Given the description of an element on the screen output the (x, y) to click on. 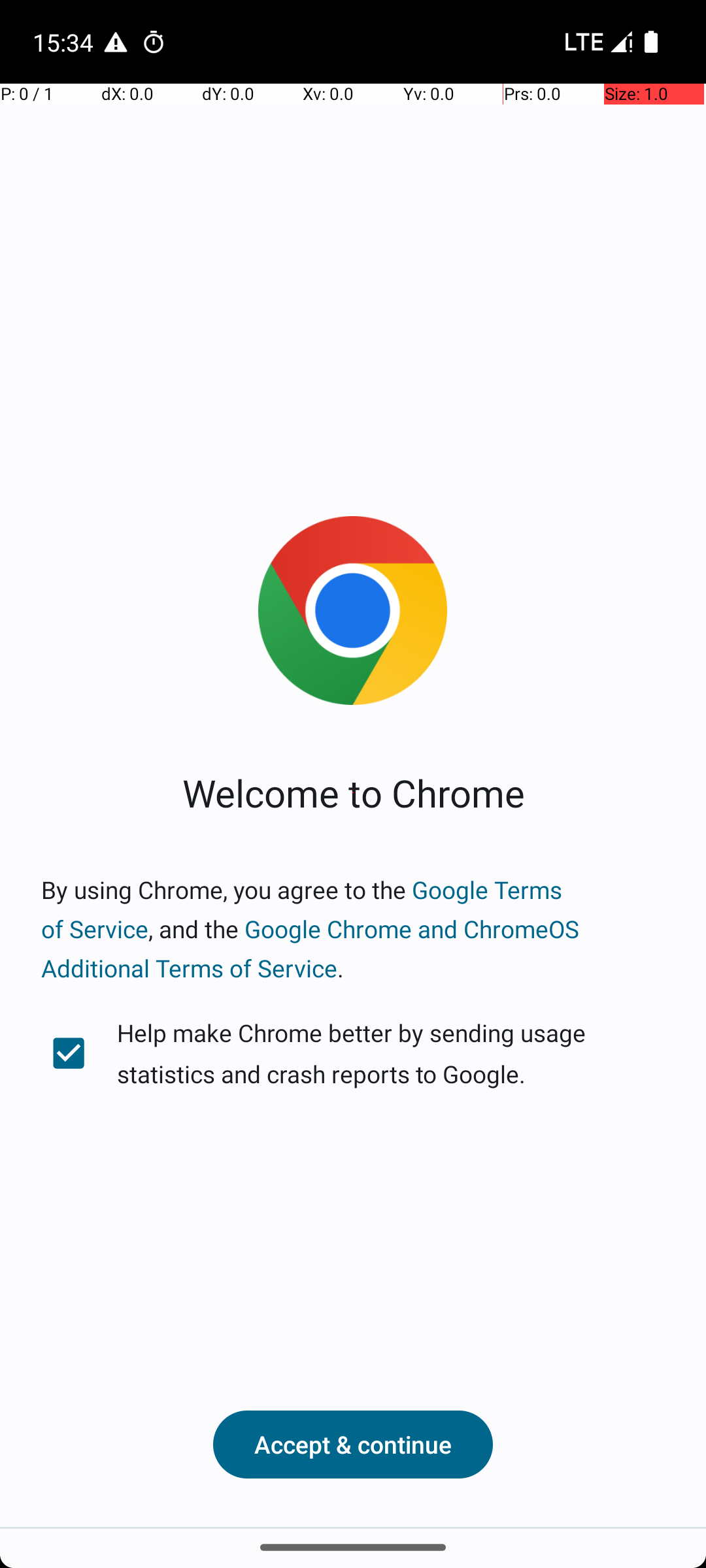
By using Chrome, you agree to the Google Terms of Service, and the Google Chrome and ChromeOS Additional Terms of Service. Element type: android.widget.TextView (352, 928)
Help make Chrome better by sending usage statistics and crash reports to Google. Element type: android.widget.CheckBox (352, 1053)
